Given the description of an element on the screen output the (x, y) to click on. 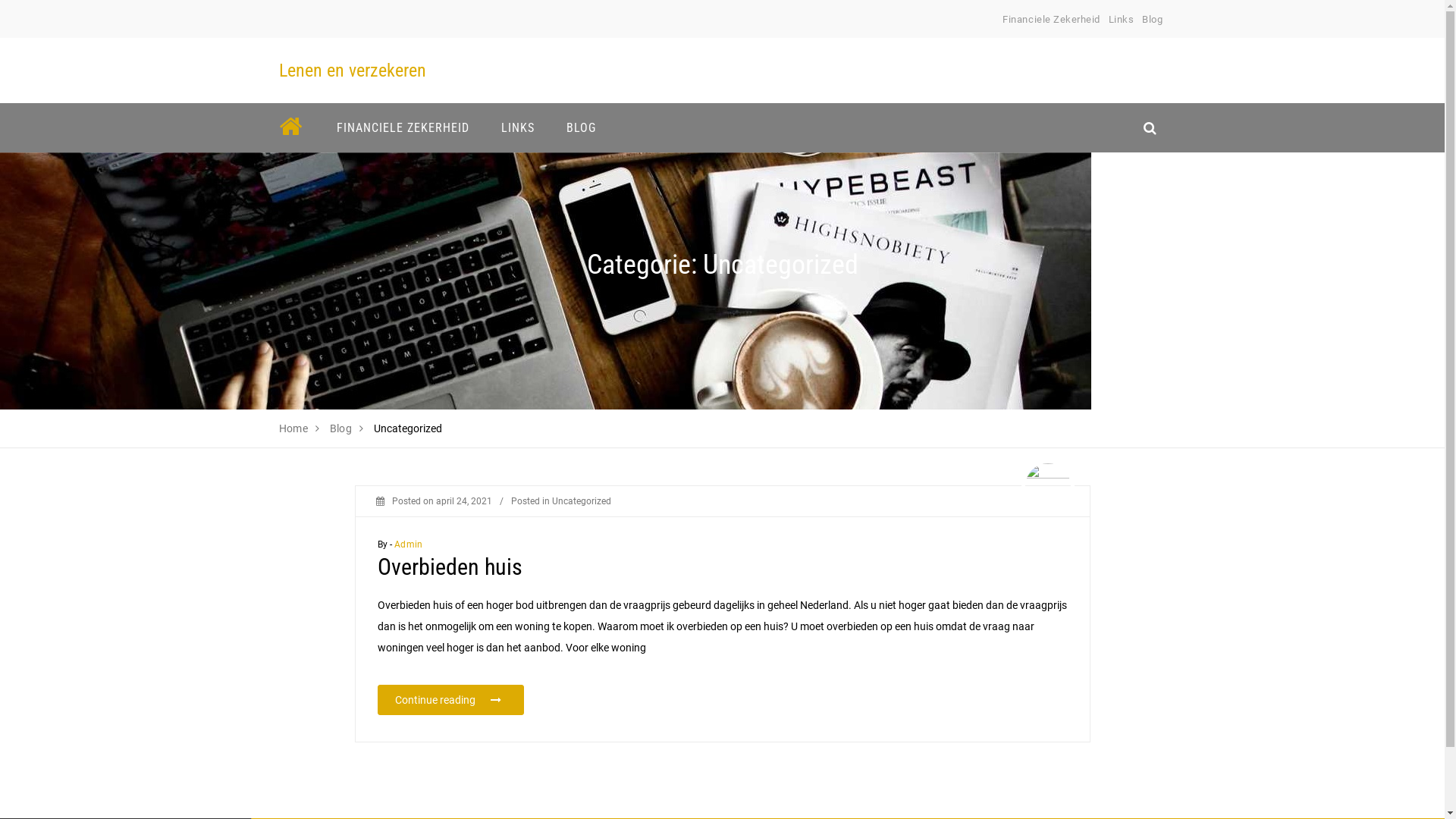
Blog Element type: text (1152, 19)
LINKS Element type: text (517, 127)
Uncategorized Element type: text (581, 500)
Links Element type: text (1121, 19)
search_icon Element type: hover (1148, 127)
Overbieden huis Element type: text (449, 566)
Home Element type: text (293, 428)
Financiele Zekerheid Element type: text (1050, 19)
BLOG Element type: text (580, 127)
Blog Element type: text (340, 428)
FINANCIELE ZEKERHEID Element type: text (402, 127)
Lenen en verzekeren Element type: text (352, 70)
Admin Element type: text (408, 544)
